Given the description of an element on the screen output the (x, y) to click on. 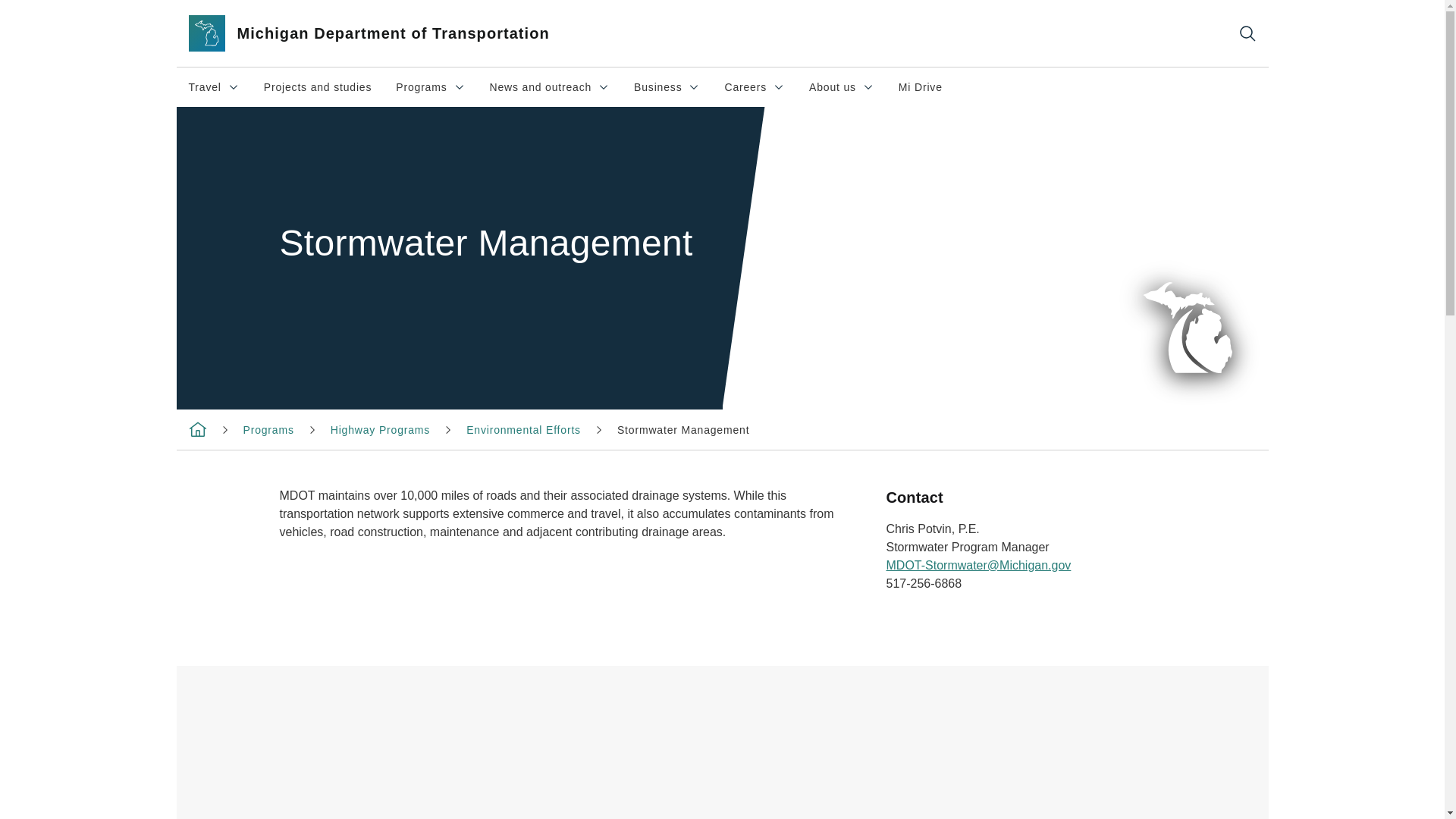
Projects and studies (317, 87)
Stormwater Management (683, 429)
Programs (666, 87)
MDOT (268, 429)
Environmental Efforts (196, 428)
